Given the description of an element on the screen output the (x, y) to click on. 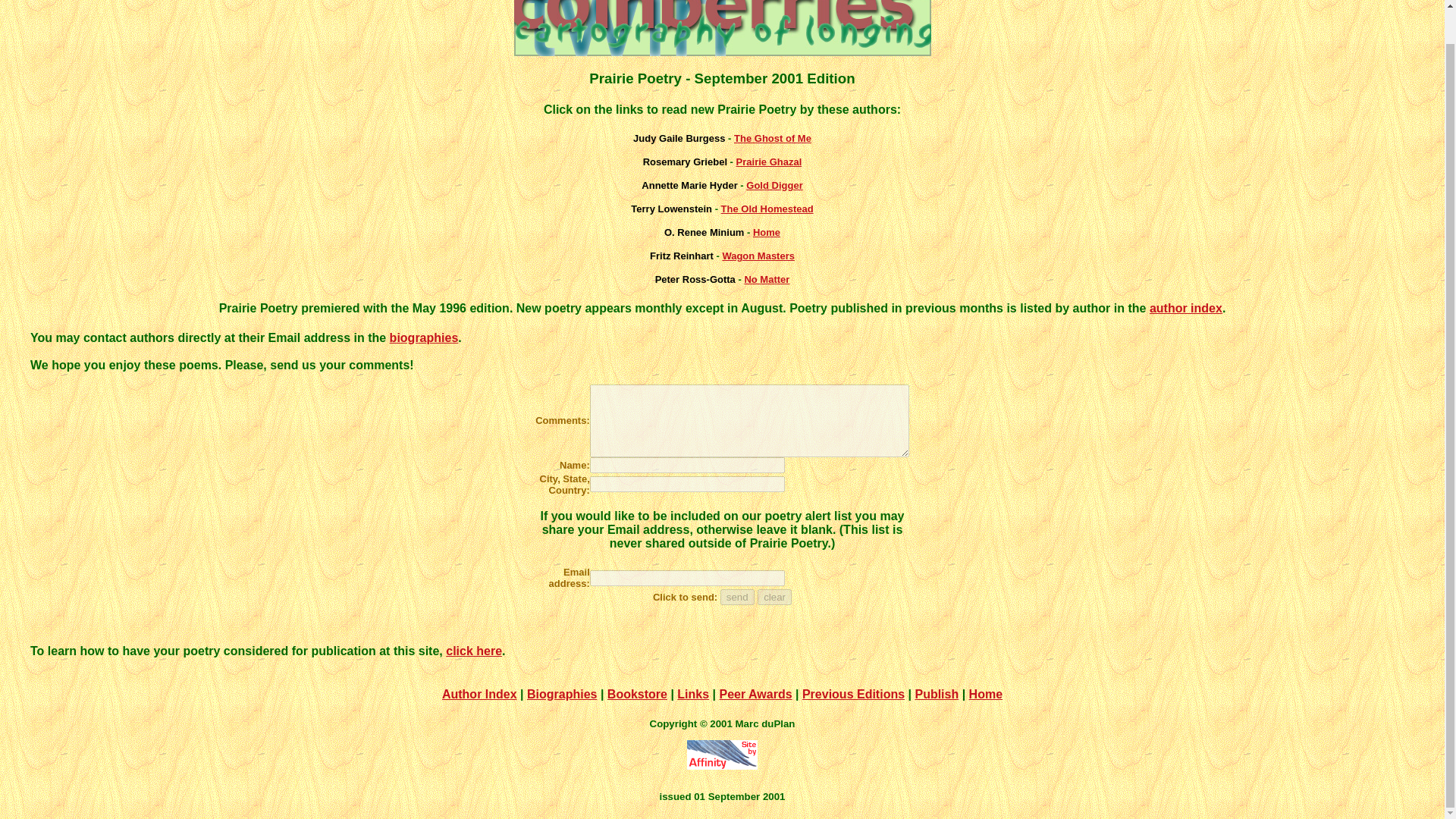
Links (693, 694)
The Old Homestead (766, 208)
Author Index (479, 694)
Biographies (561, 694)
No Matter (766, 279)
send (737, 596)
Prairie Ghazal (769, 161)
Wagon Masters (758, 255)
Peer Awards (755, 694)
Home (986, 694)
author index (1186, 308)
biographies (424, 337)
The Ghost of Me (771, 138)
clear (774, 596)
click here (473, 650)
